Given the description of an element on the screen output the (x, y) to click on. 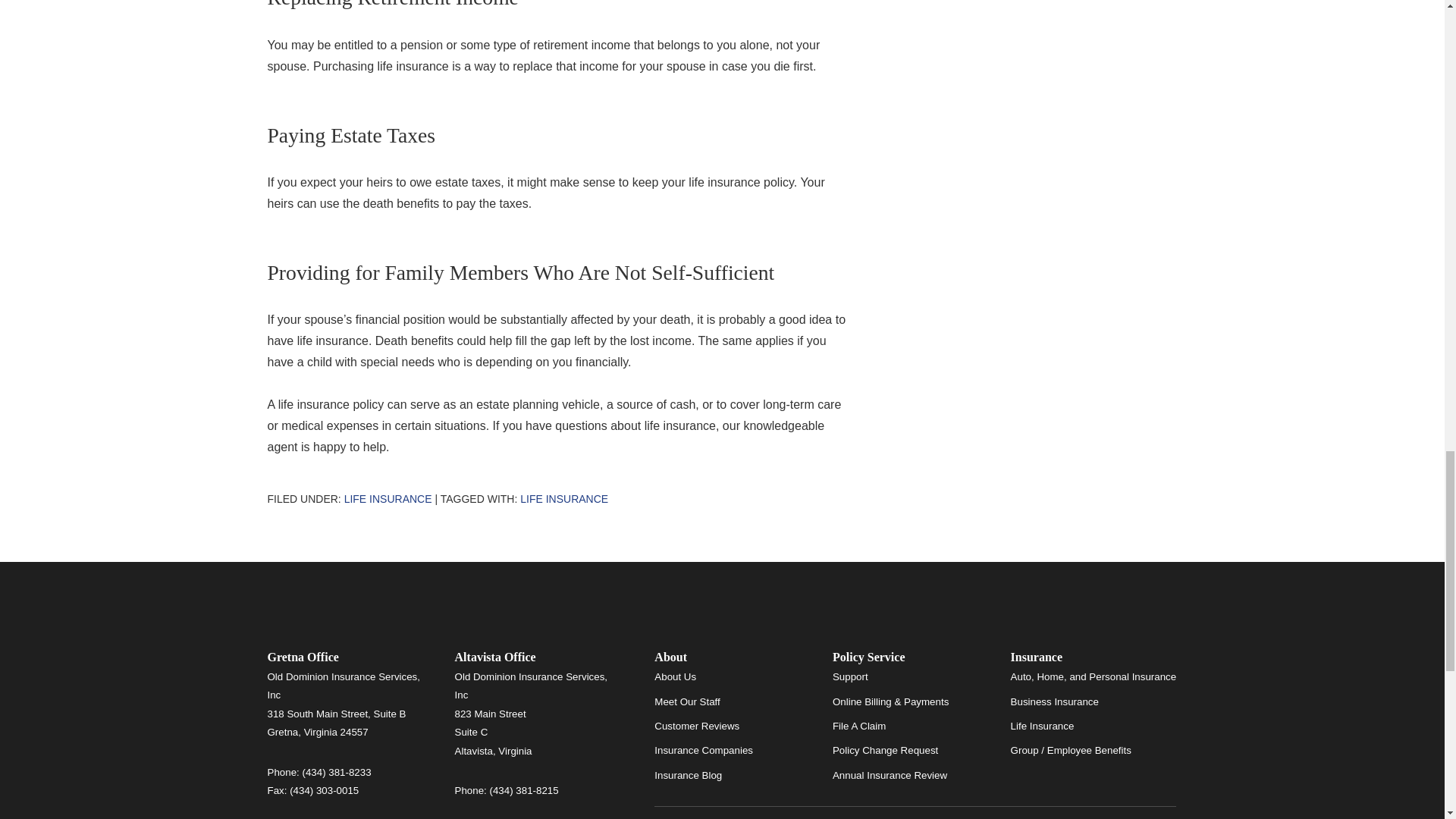
Life Insurance (563, 499)
Life Insurance (387, 499)
